Given the description of an element on the screen output the (x, y) to click on. 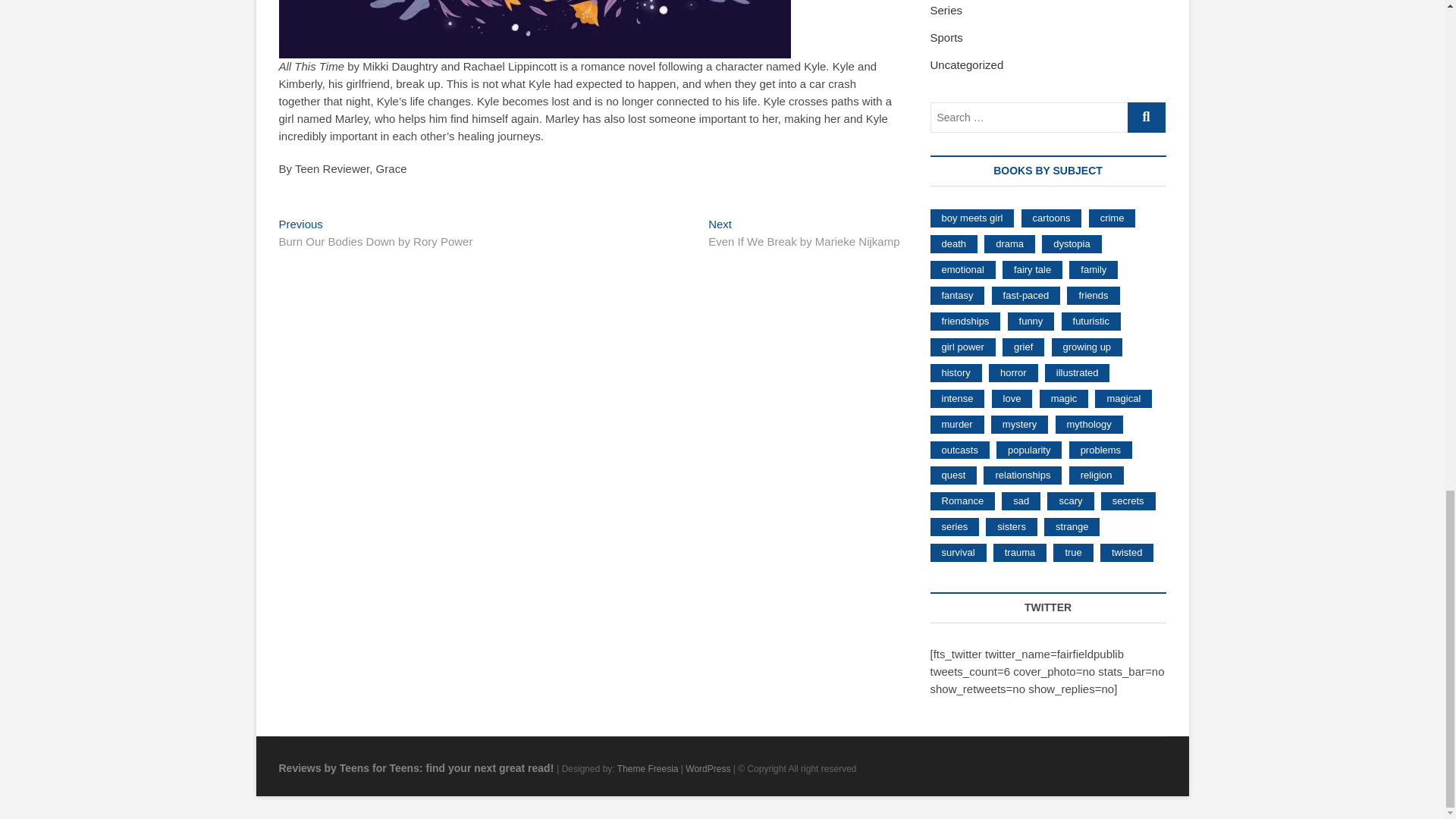
Theme Freesia (376, 233)
WordPress (803, 233)
Reviews by Teens for Teens: find your next great read!  (647, 768)
